Given the description of an element on the screen output the (x, y) to click on. 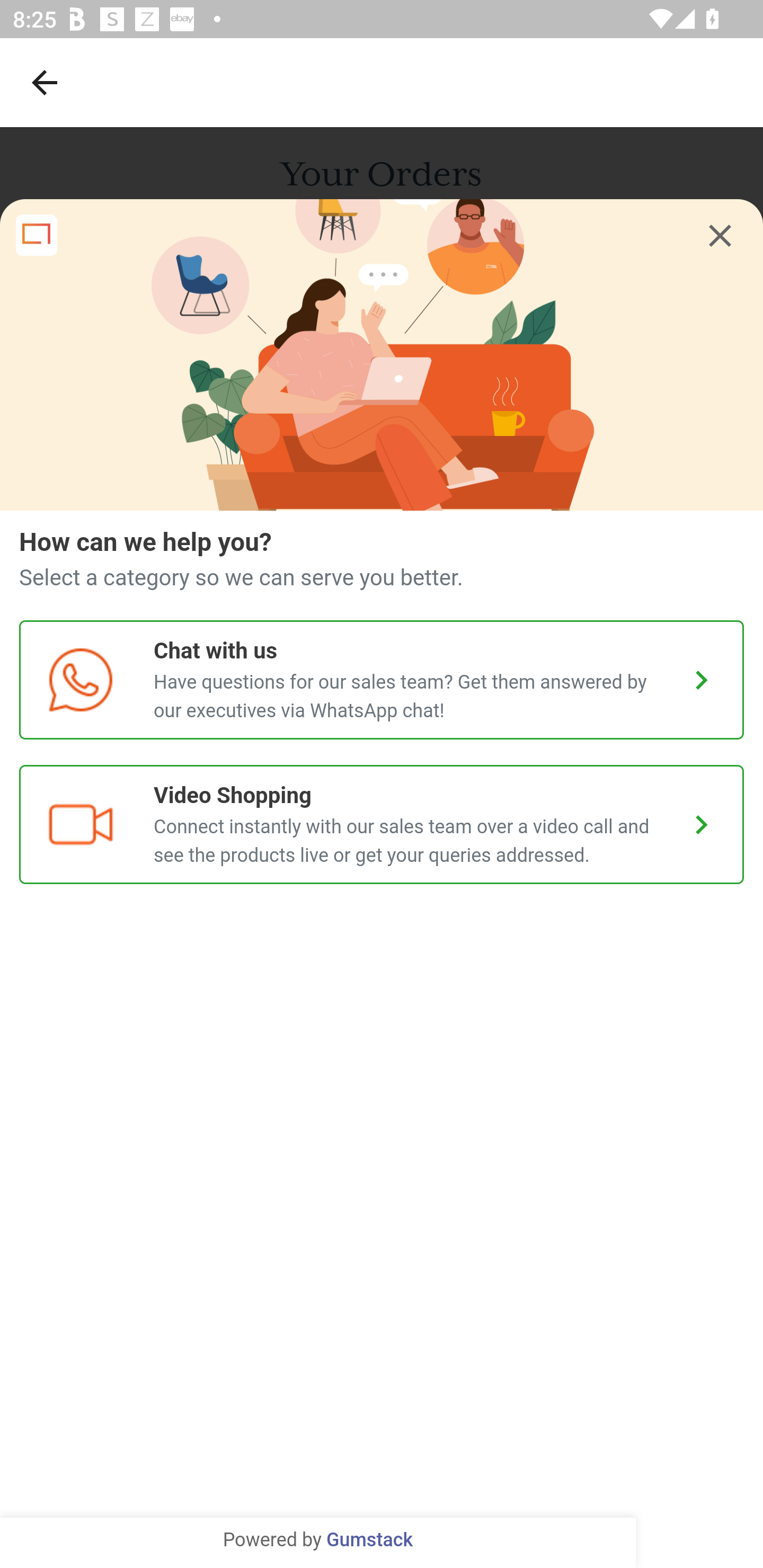
Navigate up (44, 82)
clear (720, 235)
Gumstack (369, 1540)
